Given the description of an element on the screen output the (x, y) to click on. 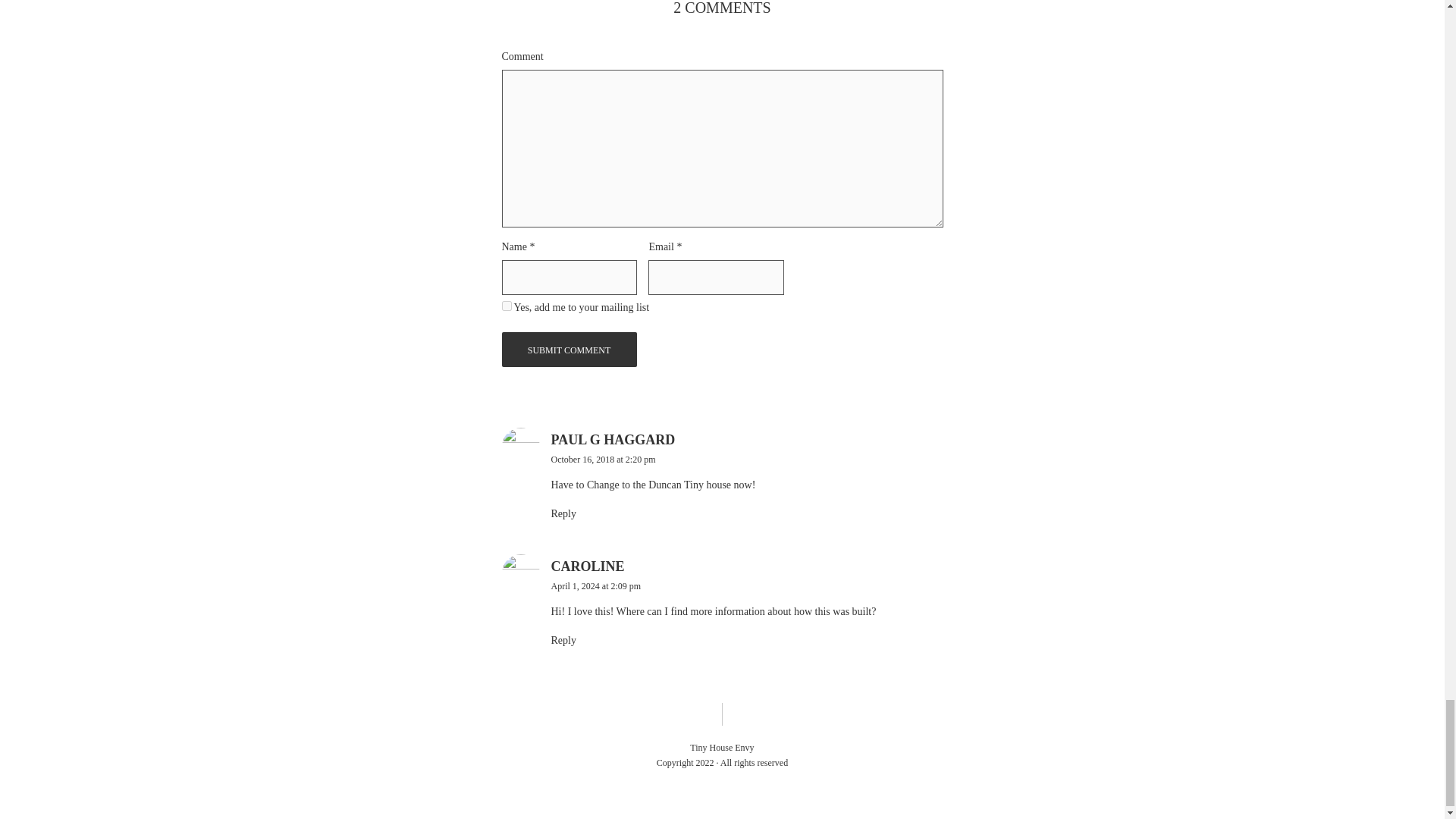
Submit Comment (569, 349)
1 (507, 306)
